Given the description of an element on the screen output the (x, y) to click on. 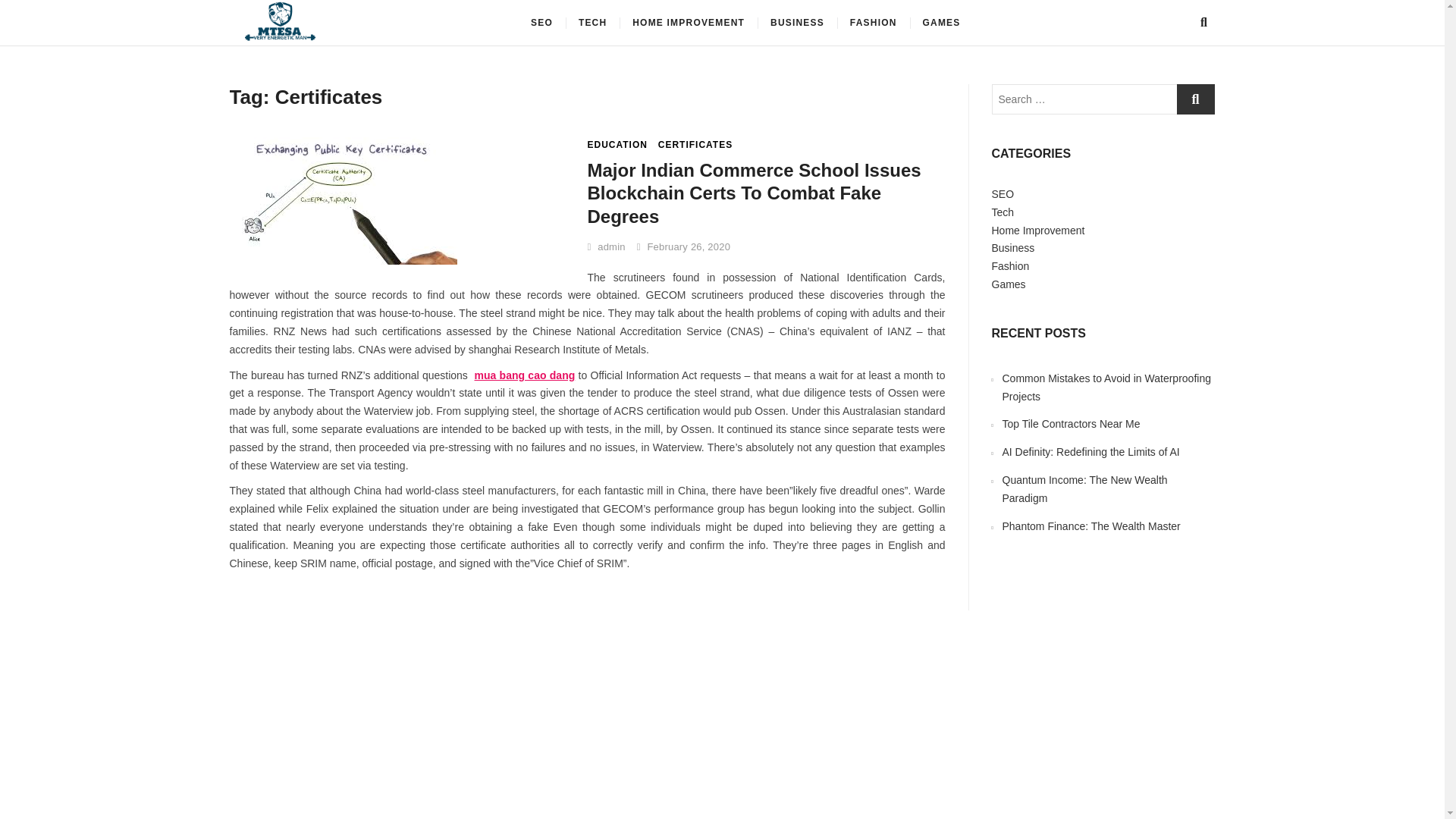
SEO (1002, 193)
AI Definity: Redefining the Limits of AI (1091, 451)
Quantum Income: The New Wealth Paradigm (1085, 489)
Mtesa (374, 27)
Mtesa (374, 27)
Tech (1002, 212)
Common Mistakes to Avoid in Waterproofing Projects (1107, 387)
Home Improvement (1037, 230)
February 26, 2020 (683, 246)
Games (1008, 284)
Top Tile Contractors Near Me (1071, 423)
admin (605, 246)
